Given the description of an element on the screen output the (x, y) to click on. 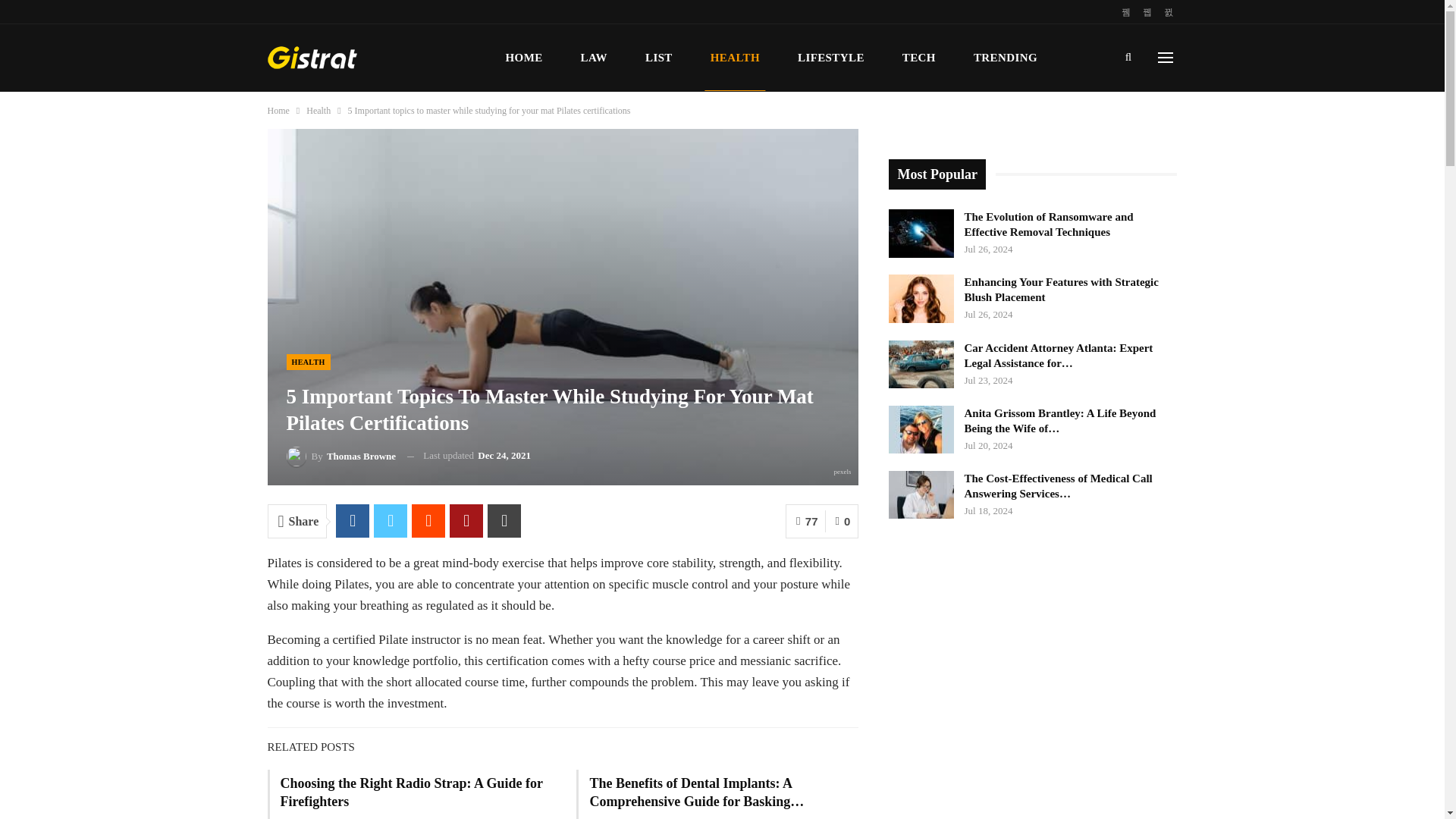
Enhancing Your Features with Strategic Blush Placement (920, 298)
The Evolution of Ransomware and Effective Removal Techniques (920, 233)
Browse Author Articles (341, 455)
Health (317, 110)
HEALTH (734, 57)
HEALTH (308, 361)
By Thomas Browne (341, 455)
Choosing the Right Radio Strap: A Guide for Firefighters (412, 792)
0 (842, 521)
Home (277, 110)
TRENDING (1005, 57)
LIFESTYLE (830, 57)
